Given the description of an element on the screen output the (x, y) to click on. 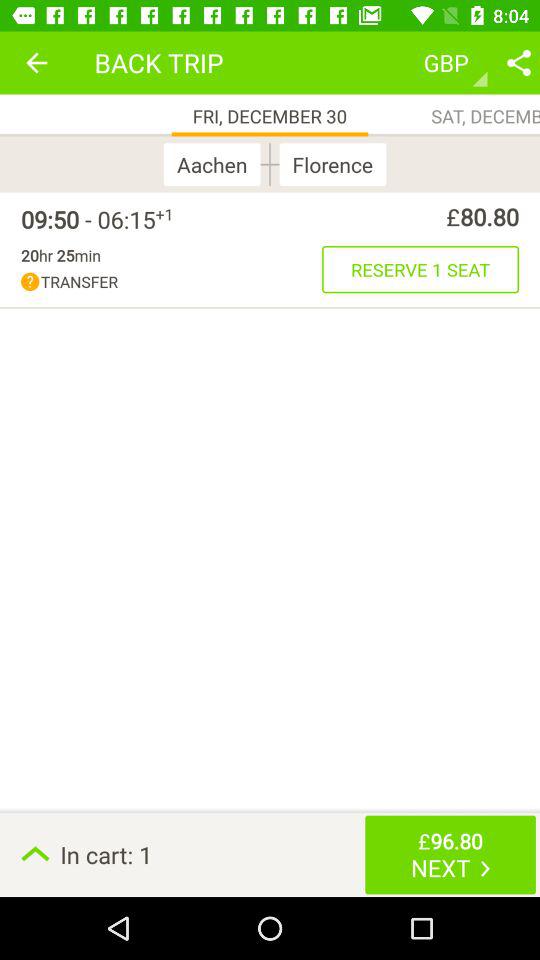
press the item next to the +1 icon (88, 219)
